Given the description of an element on the screen output the (x, y) to click on. 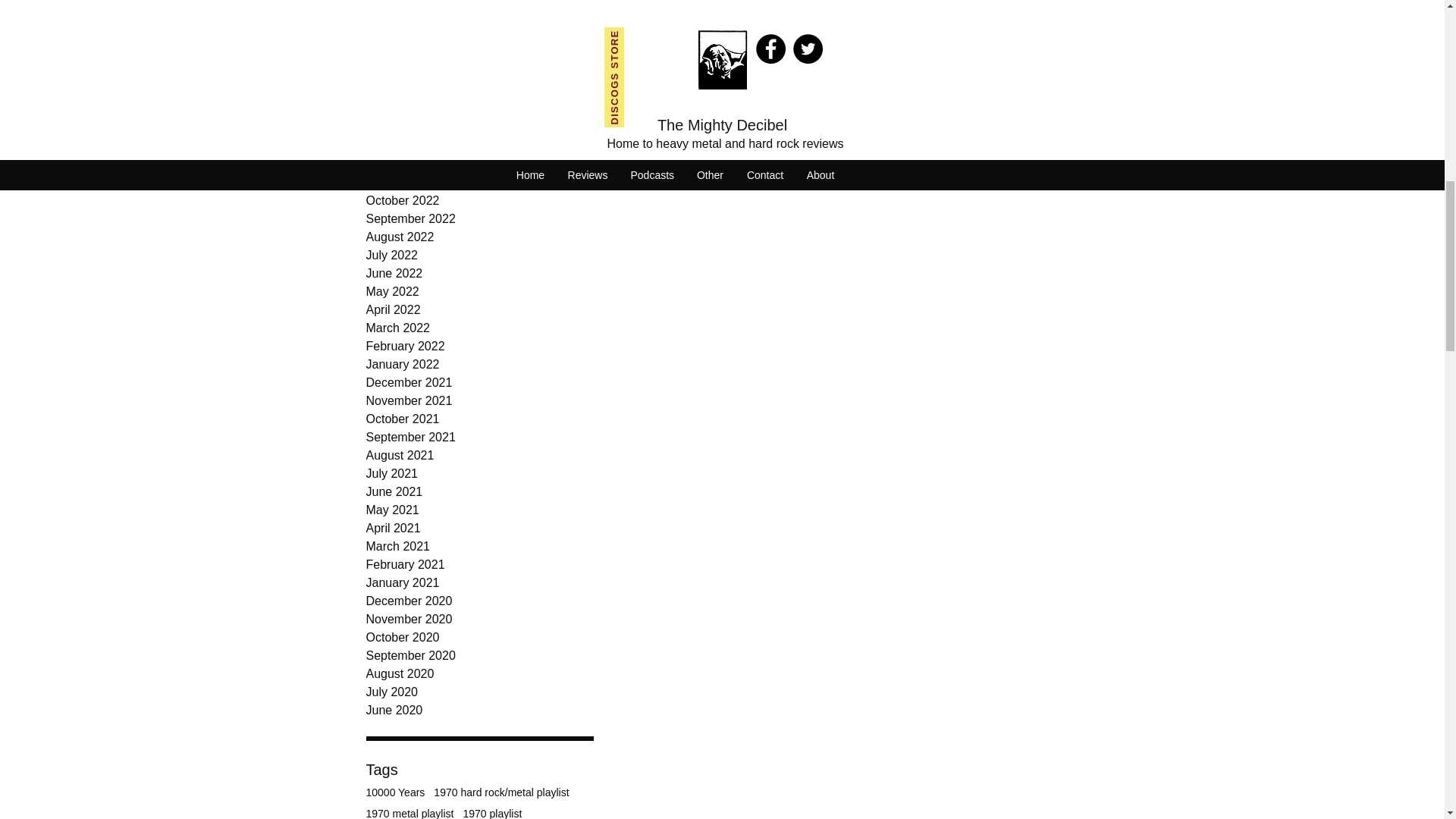
September 2023 (478, 4)
March 2023 (478, 109)
June 2023 (478, 54)
May 2023 (478, 73)
July 2023 (478, 36)
February 2023 (478, 127)
August 2023 (478, 18)
April 2023 (478, 91)
